Given the description of an element on the screen output the (x, y) to click on. 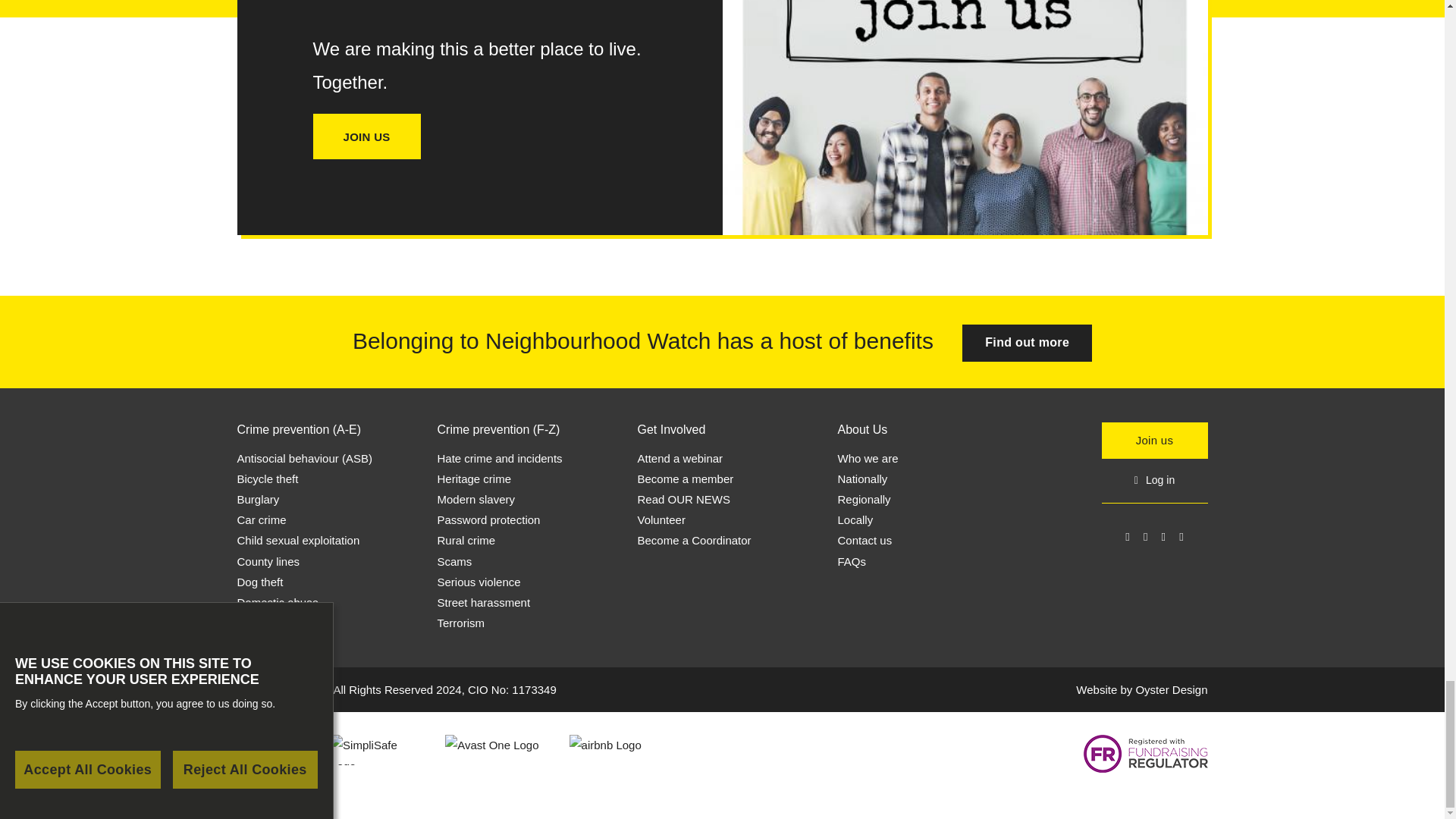
Become a Coordinator (694, 540)
Join us (1027, 342)
